Given the description of an element on the screen output the (x, y) to click on. 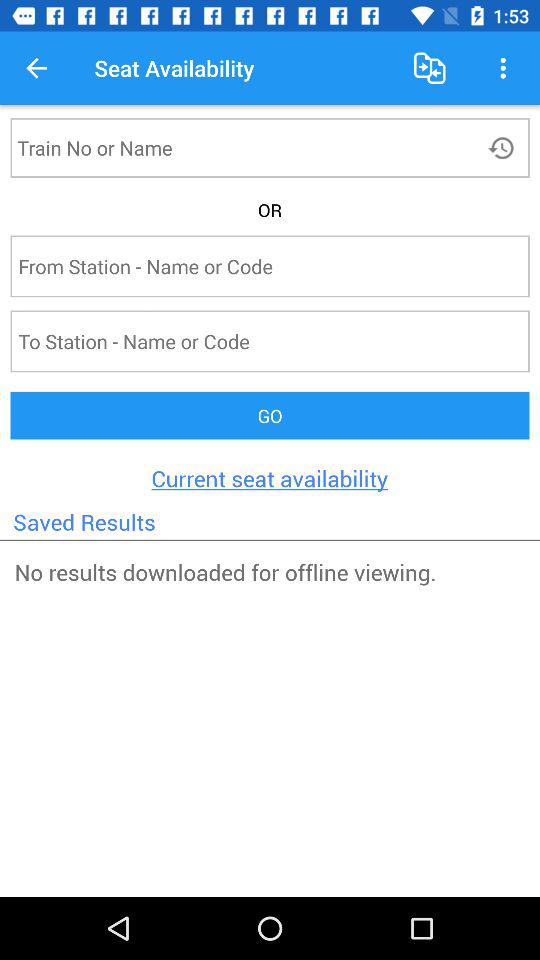
click on name box (233, 147)
